Given the description of an element on the screen output the (x, y) to click on. 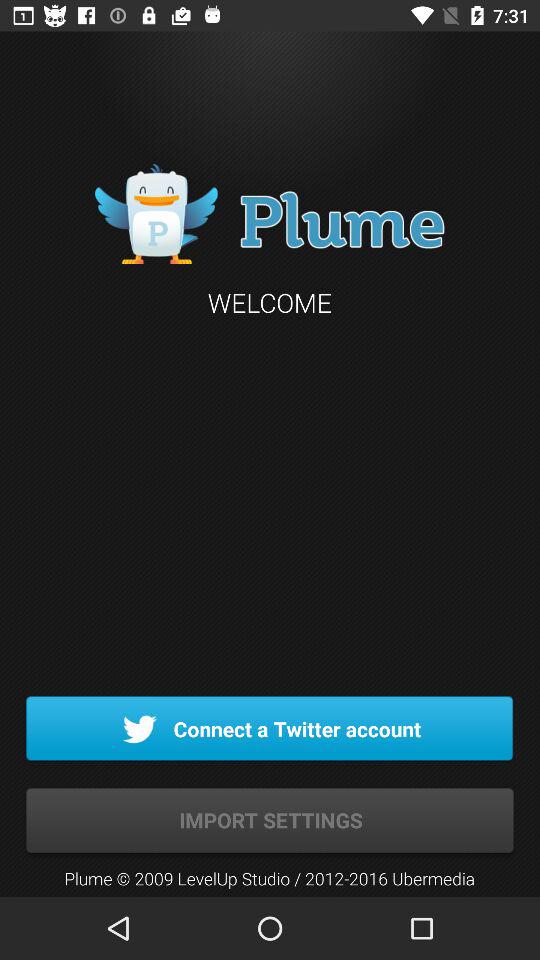
launch icon below connect a twitter item (269, 820)
